Given the description of an element on the screen output the (x, y) to click on. 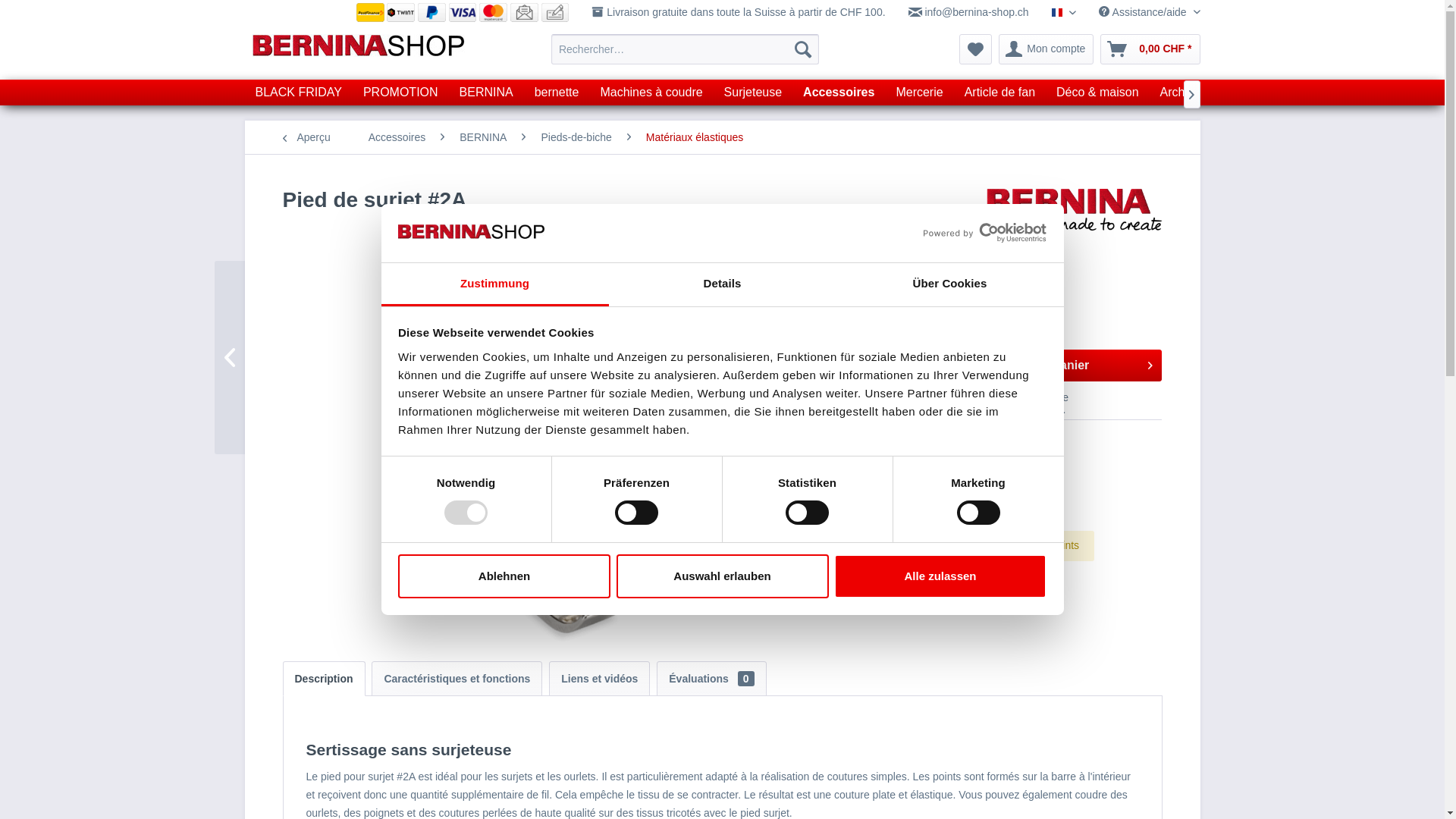
Surjeteuse Element type: text (753, 92)
Auswahl erlauben Element type: text (721, 576)
Pieds-de-biche Element type: text (575, 136)
PROMOTION Element type: text (400, 92)
Comparer Element type: text (859, 397)
Zustimmung Element type: text (494, 284)
BERNINA Element type: text (486, 92)
PostFinance Element type: hover (370, 12)
Description Element type: text (323, 678)
BERNINA Points Element type: text (1039, 545)
PayPal Element type: hover (431, 12)
0,00 CHF * Element type: text (1149, 49)
Details Element type: text (721, 284)
Ablehnen Element type: text (504, 576)
#2 Pied de surjet Element type: hover (304, 357)
Mon compte Element type: text (1045, 49)
Commentaire Element type: text (1027, 397)
Recommand. Element type: text (1025, 409)
Alle zulassen Element type: text (940, 576)
BLACK FRIDAY Element type: text (297, 92)
bernette Element type: text (556, 92)
Mercerie Element type: text (918, 92)
Autres articles de BERNINA Element type: hover (1073, 214)
Dans le panier Element type: text (1056, 365)
Archives Element type: text (1183, 92)
Se souv. Element type: text (938, 397)
Facture Element type: hover (524, 12)
Accessoires Element type: text (396, 136)
Visa Element type: hover (462, 12)
Article de fan Element type: text (999, 92)
Twint Element type: hover (400, 12)
BERNINA Element type: text (482, 136)
Accessoires Element type: text (838, 92)
info@bernina-shop.ch Element type: text (968, 12)
Mastercard Element type: hover (493, 12)
